Given the description of an element on the screen output the (x, y) to click on. 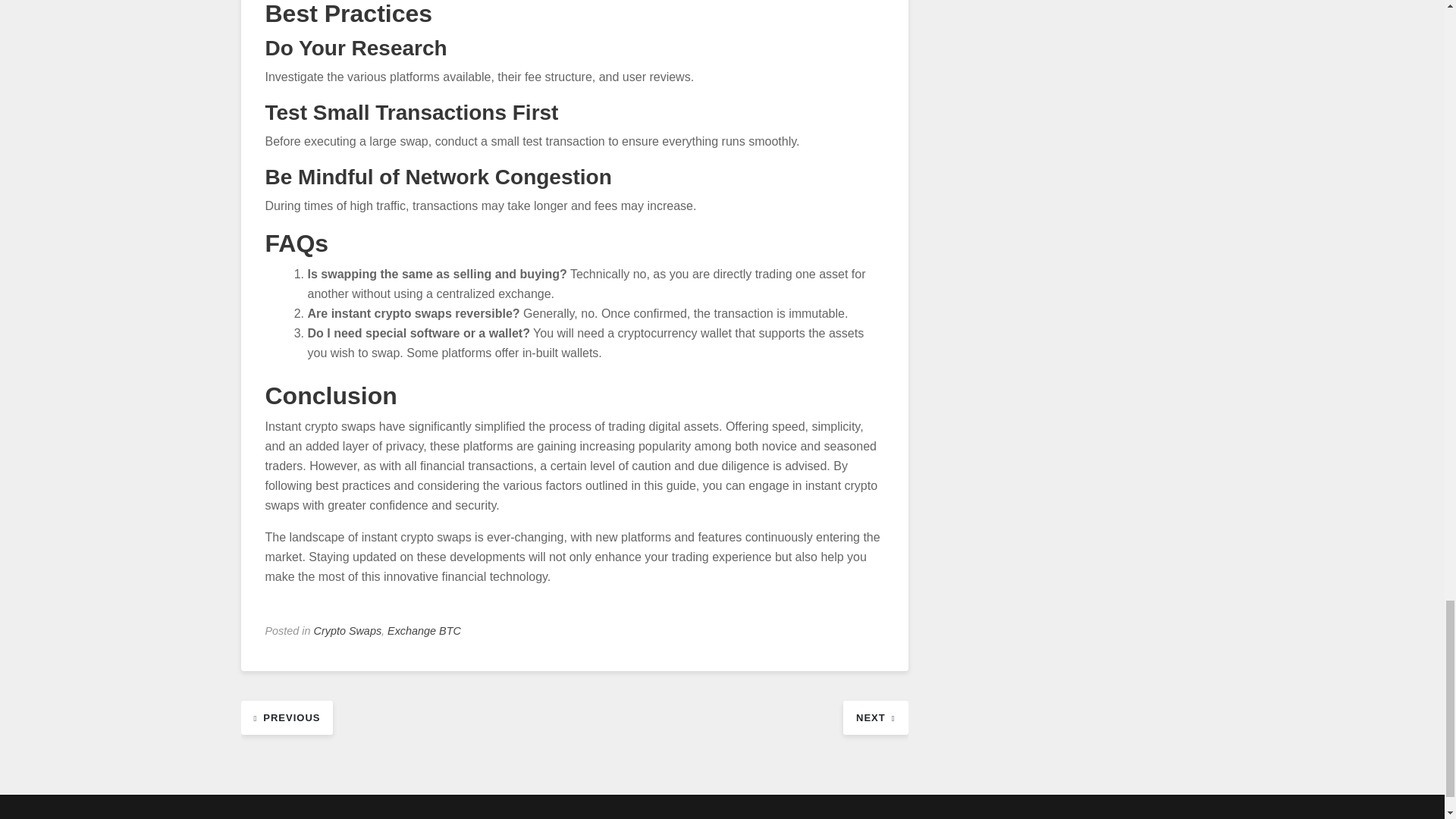
Exchange BTC (424, 630)
Crypto Swaps (347, 630)
NEXT (875, 716)
PREVIOUS (287, 716)
